Given the description of an element on the screen output the (x, y) to click on. 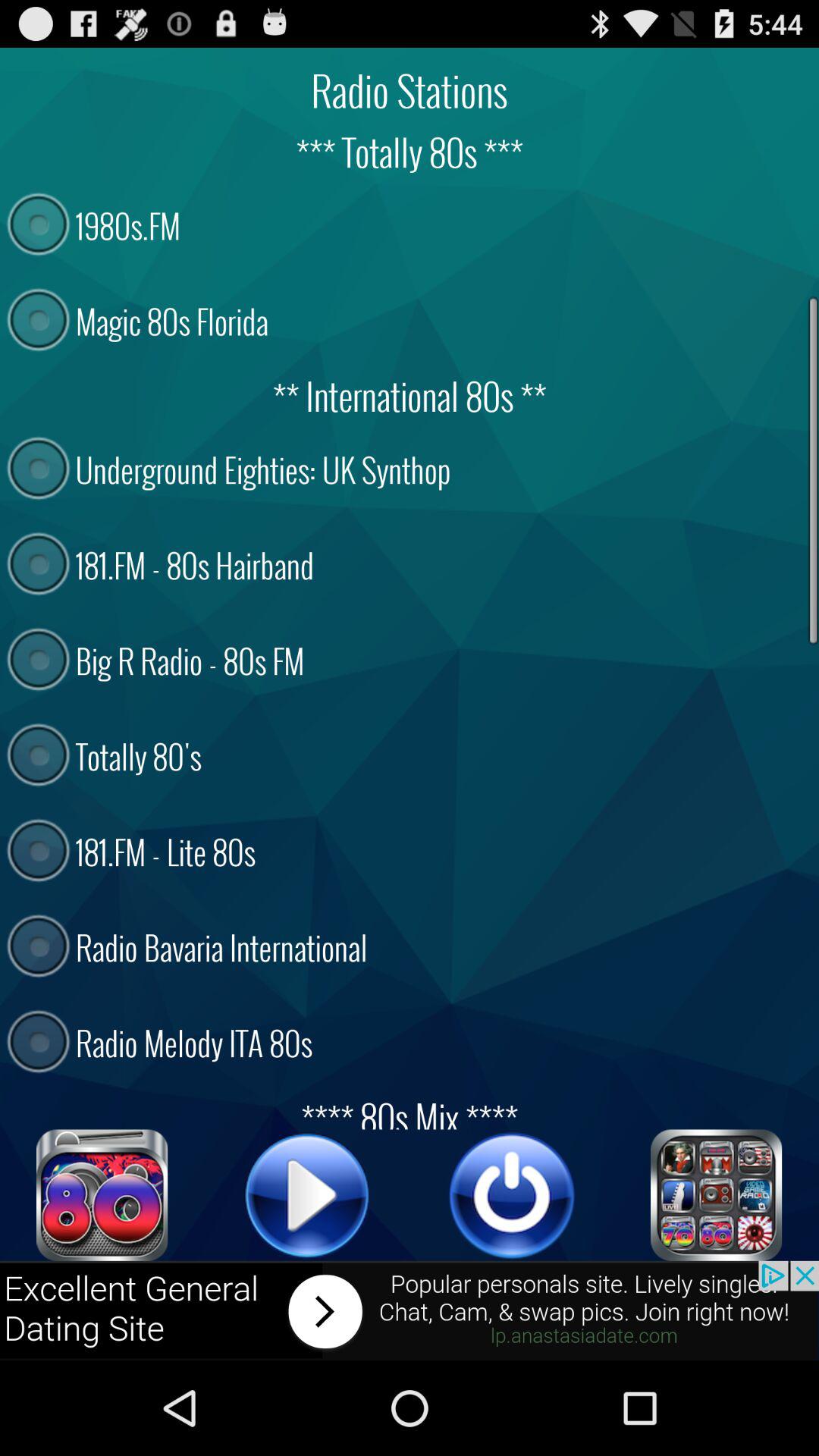
play sound (306, 1194)
